Given the description of an element on the screen output the (x, y) to click on. 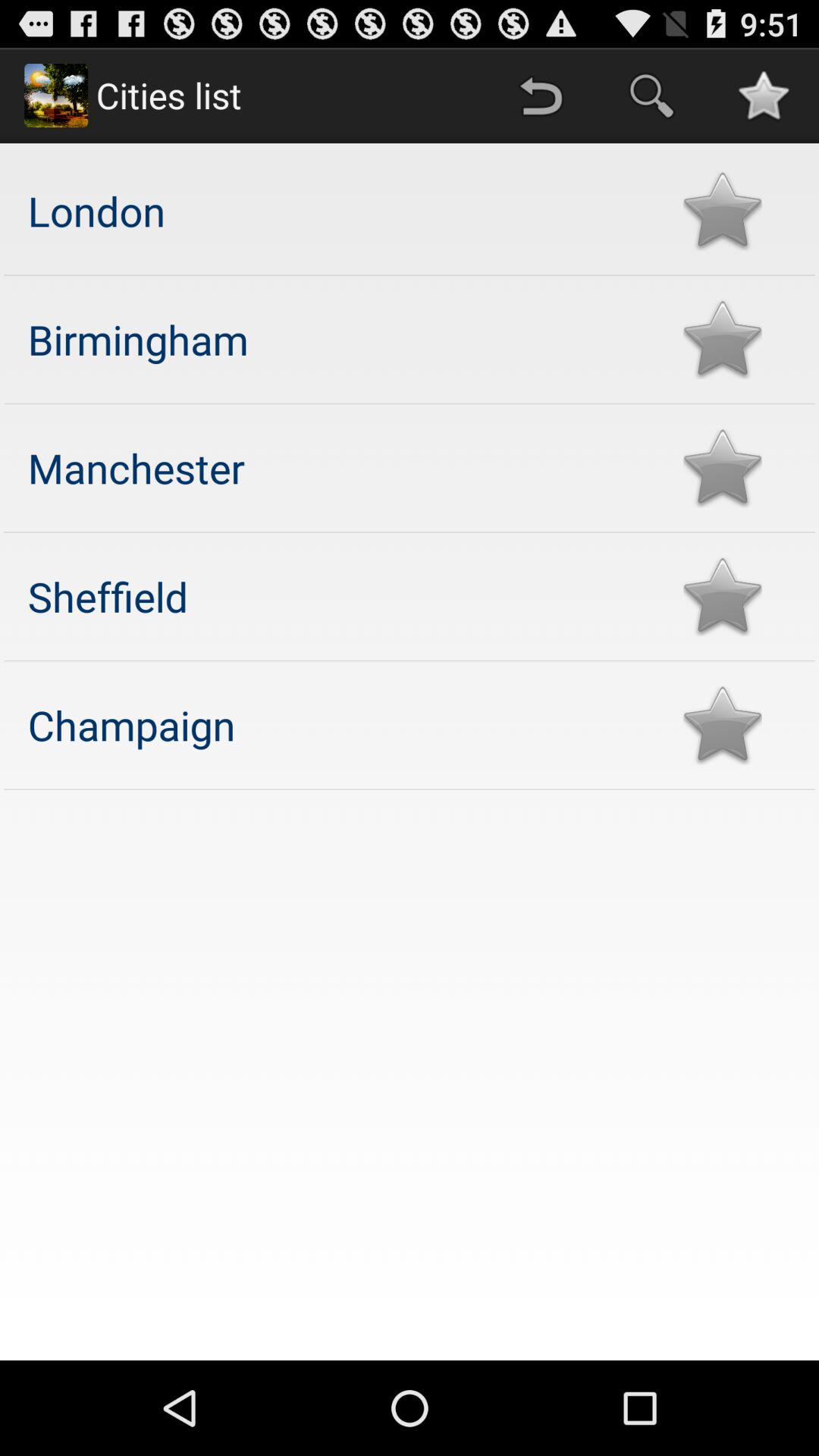
turn off the birmingham icon (340, 338)
